Given the description of an element on the screen output the (x, y) to click on. 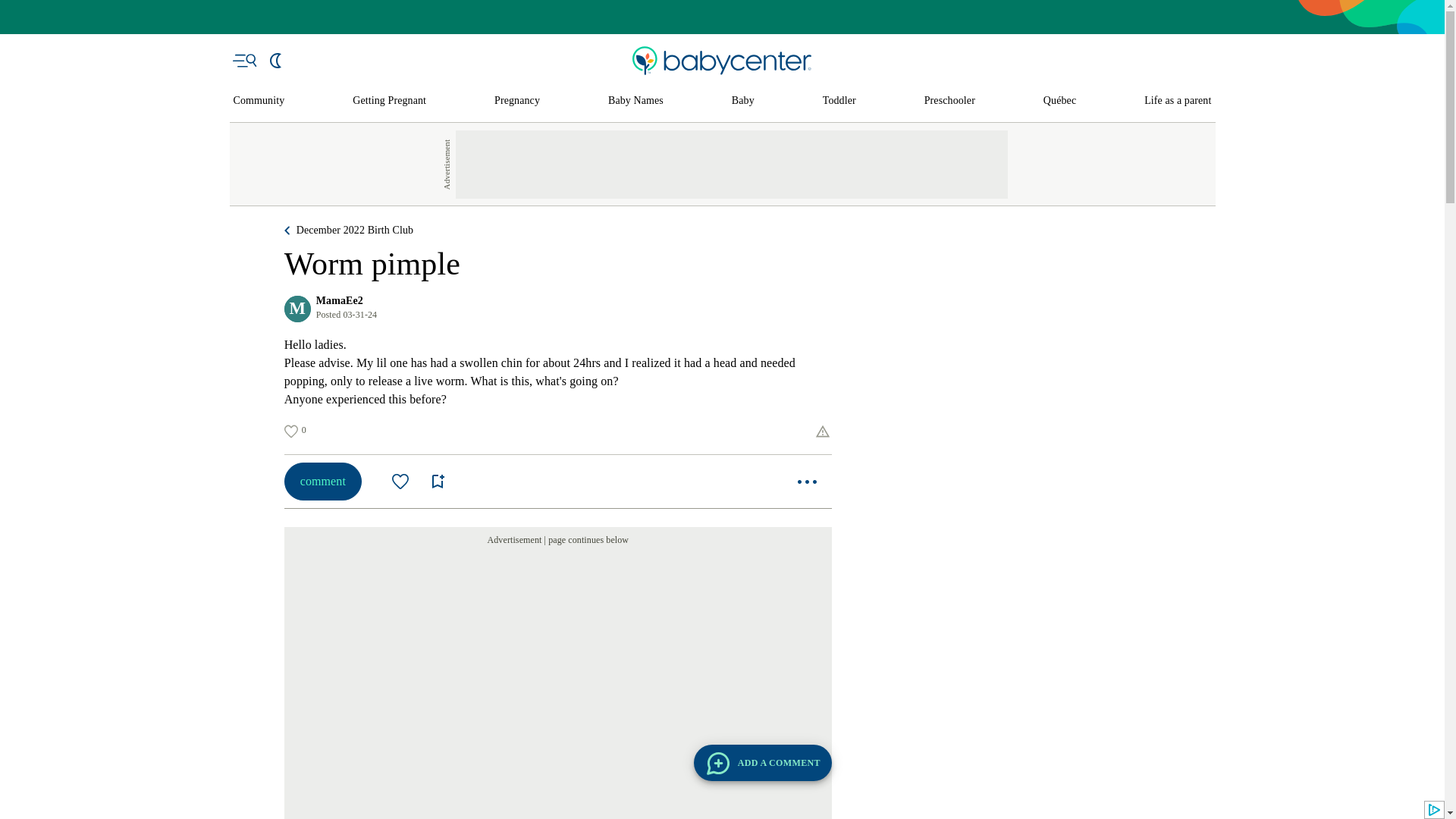
Baby (743, 101)
Community (258, 101)
Toddler (839, 101)
Getting Pregnant (389, 101)
Pregnancy (517, 101)
Preschooler (949, 101)
Life as a parent (1177, 101)
Baby Names (635, 101)
